Given the description of an element on the screen output the (x, y) to click on. 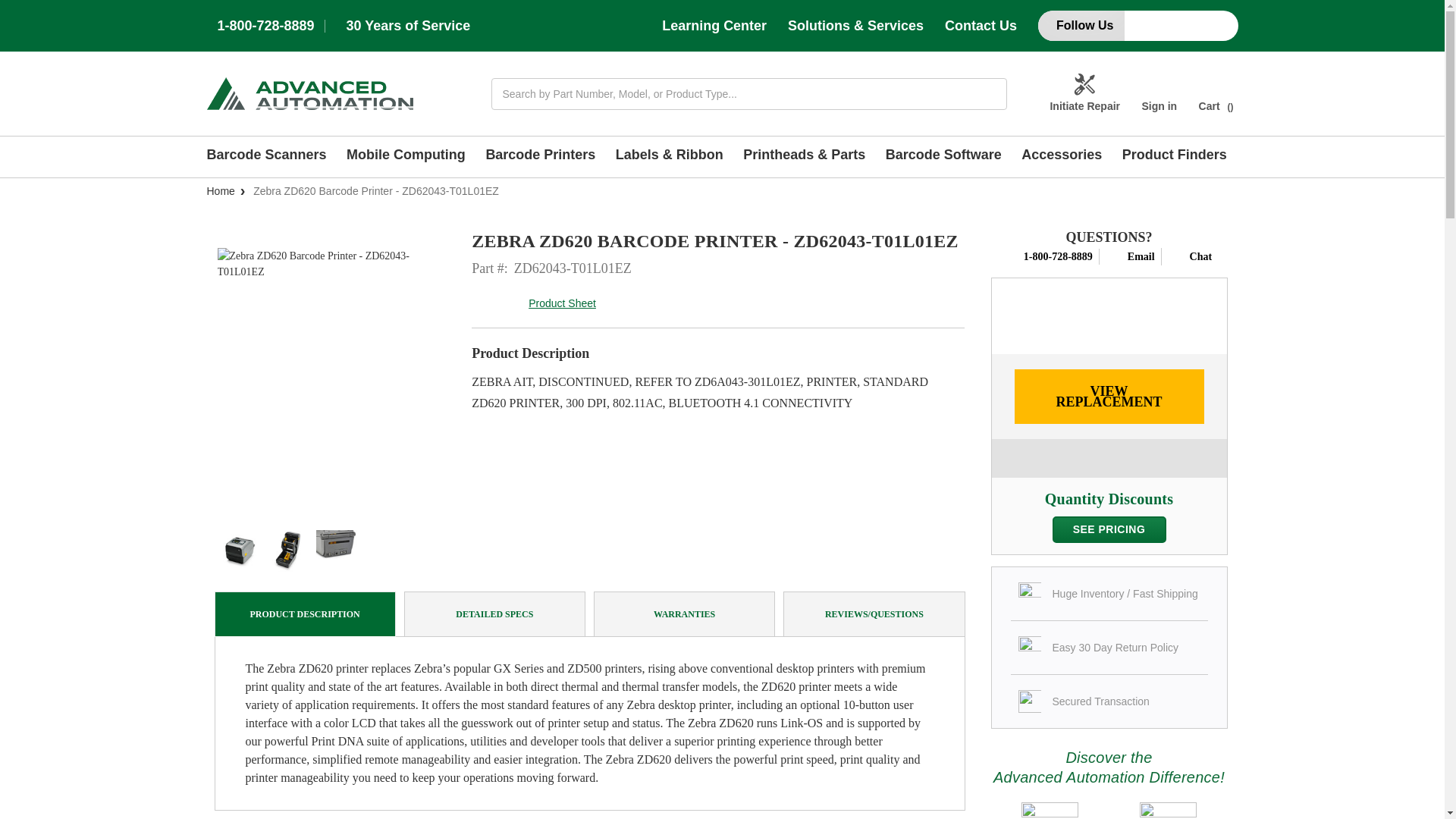
Advanced Automation (309, 93)
Initiate Repair (1084, 93)
1-800-728-8889 (265, 25)
Contact Us (980, 25)
Barcode Scanners (271, 156)
Learning Center (714, 25)
